Given the description of an element on the screen output the (x, y) to click on. 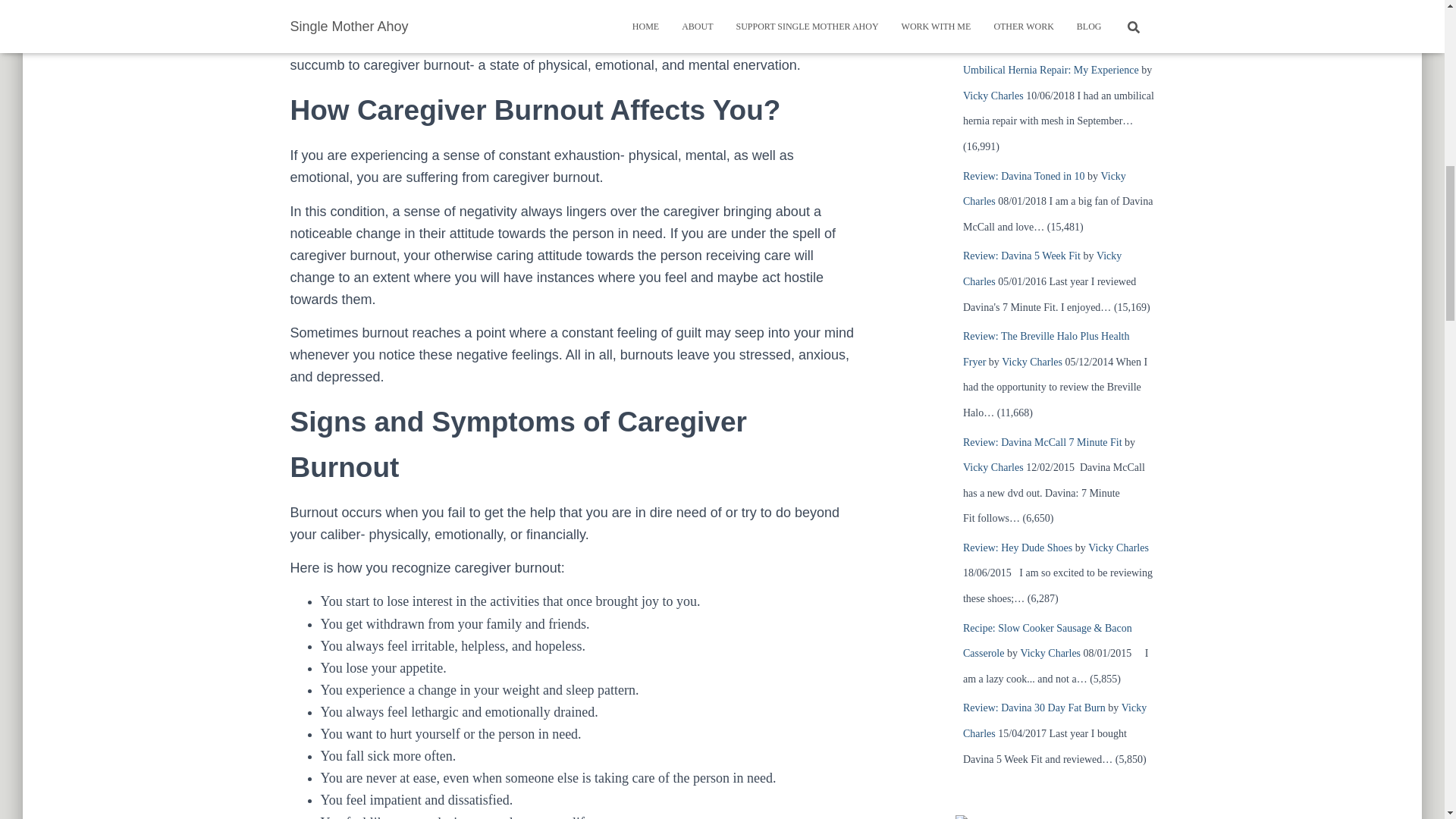
Vicky Charles (992, 467)
Vicky Charles (1041, 268)
Review: The Breville Halo Plus Health Fryer (1045, 348)
Vicky Charles (1043, 189)
Vicky Charles (1050, 653)
Review: Davina Toned in 10 (1023, 175)
Review: Davina McCall 7 Minute Fit (1042, 441)
Review: Hey Dude Shoes (1016, 547)
Vicky Charles (992, 95)
Review: Davina 5 Week Fit (1021, 255)
Vicky Charles (1031, 361)
Umbilical Hernia Repair: My Experience (1050, 70)
Vicky Charles (1117, 547)
